Given the description of an element on the screen output the (x, y) to click on. 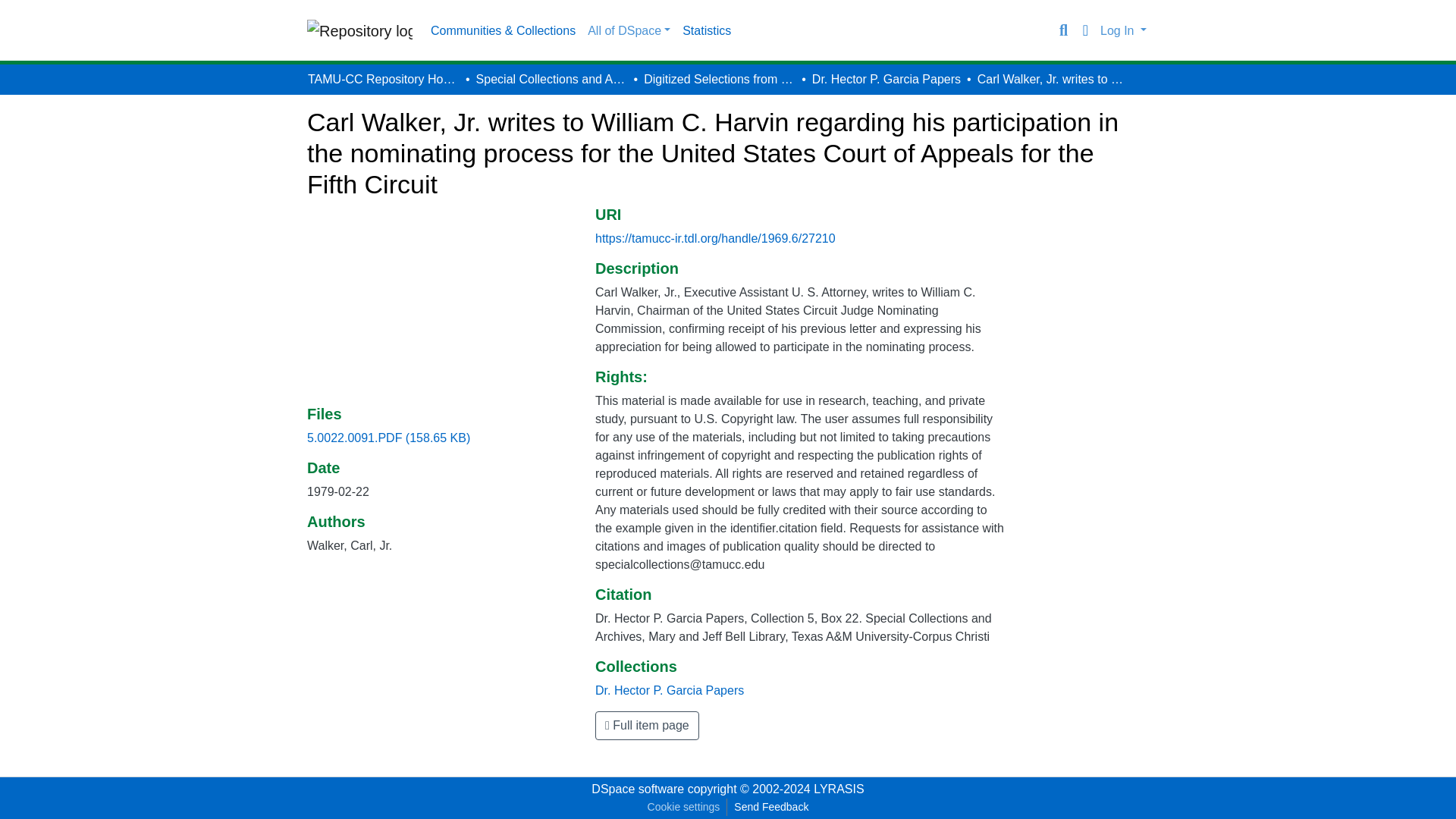
Dr. Hector P. Garcia Papers (669, 689)
Cookie settings (683, 806)
Send Feedback (770, 806)
TAMU-CC Repository Home (383, 79)
Special Collections and Archives (551, 79)
LYRASIS (838, 788)
All of DSpace (628, 30)
Dr. Hector P. Garcia Papers (886, 79)
DSpace software (637, 788)
Statistics (706, 30)
Digitized Selections from the Collections (718, 79)
Search (1063, 30)
Log In (1122, 30)
Full item page (646, 725)
Statistics (706, 30)
